Given the description of an element on the screen output the (x, y) to click on. 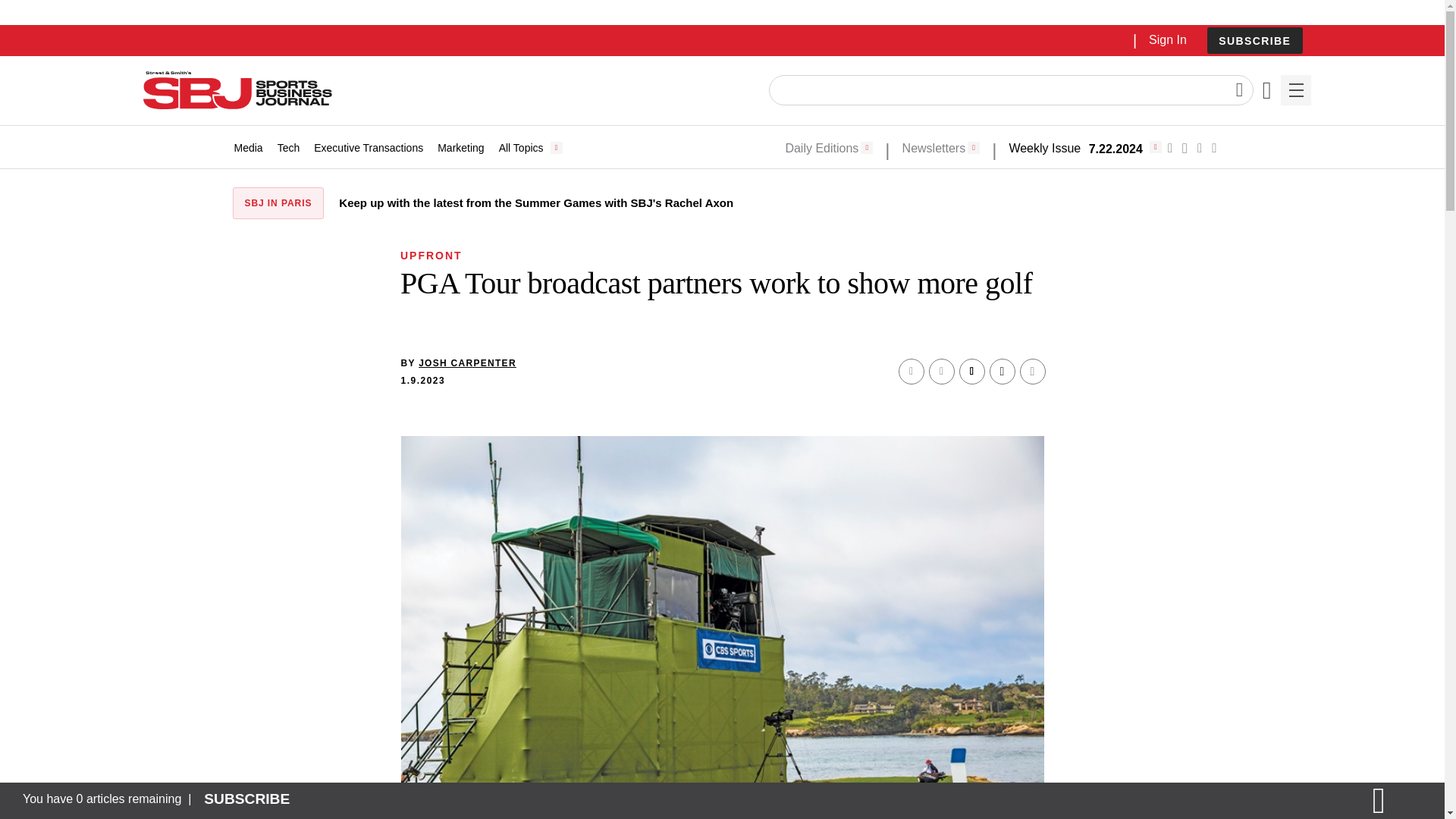
SIGN IN (1194, 324)
SUBSCRIBE (1255, 40)
SUBSCRIBE (1254, 40)
Menu (1294, 90)
Sign In (1167, 40)
